Given the description of an element on the screen output the (x, y) to click on. 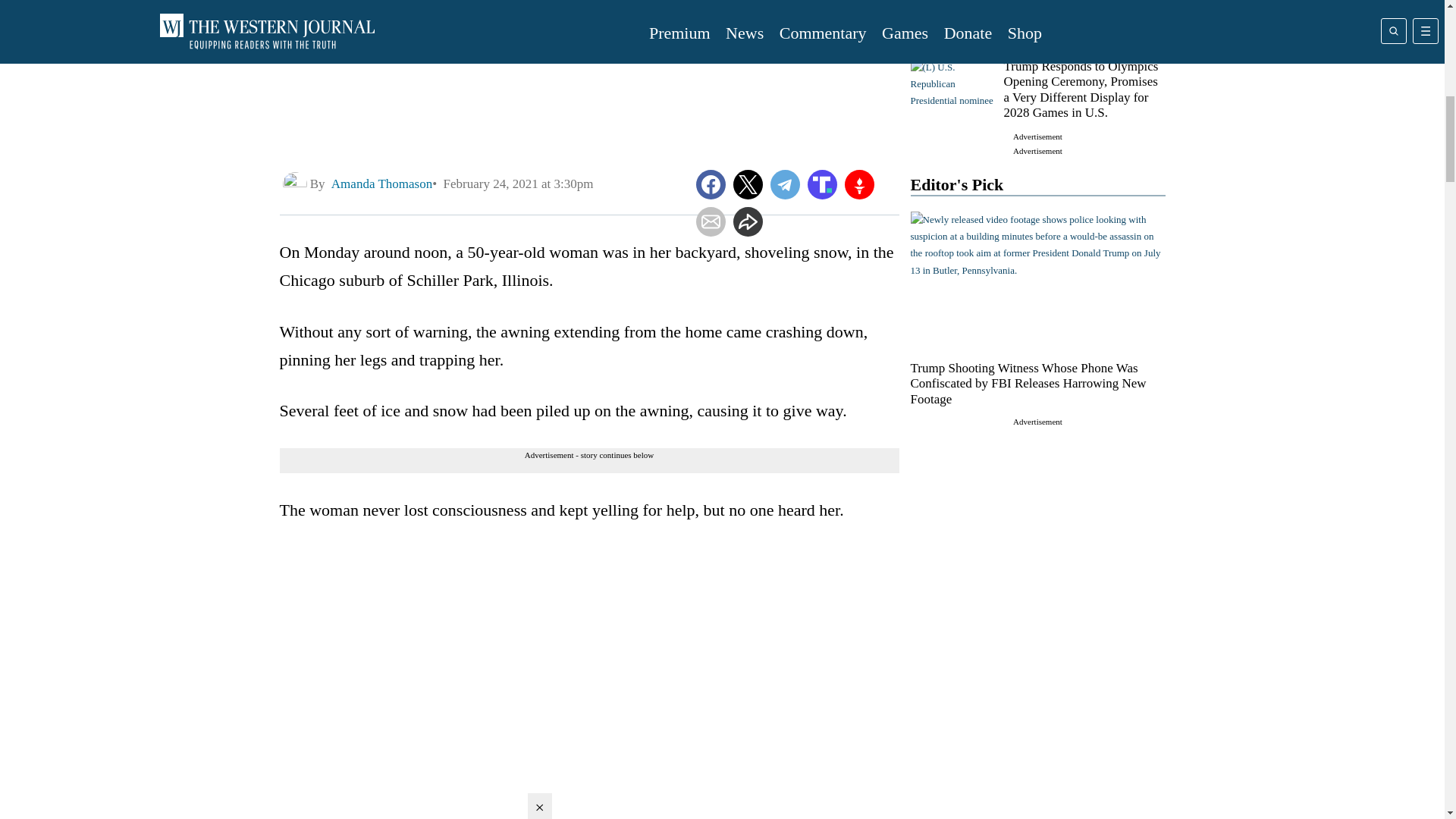
Commentary (952, 12)
